Given the description of an element on the screen output the (x, y) to click on. 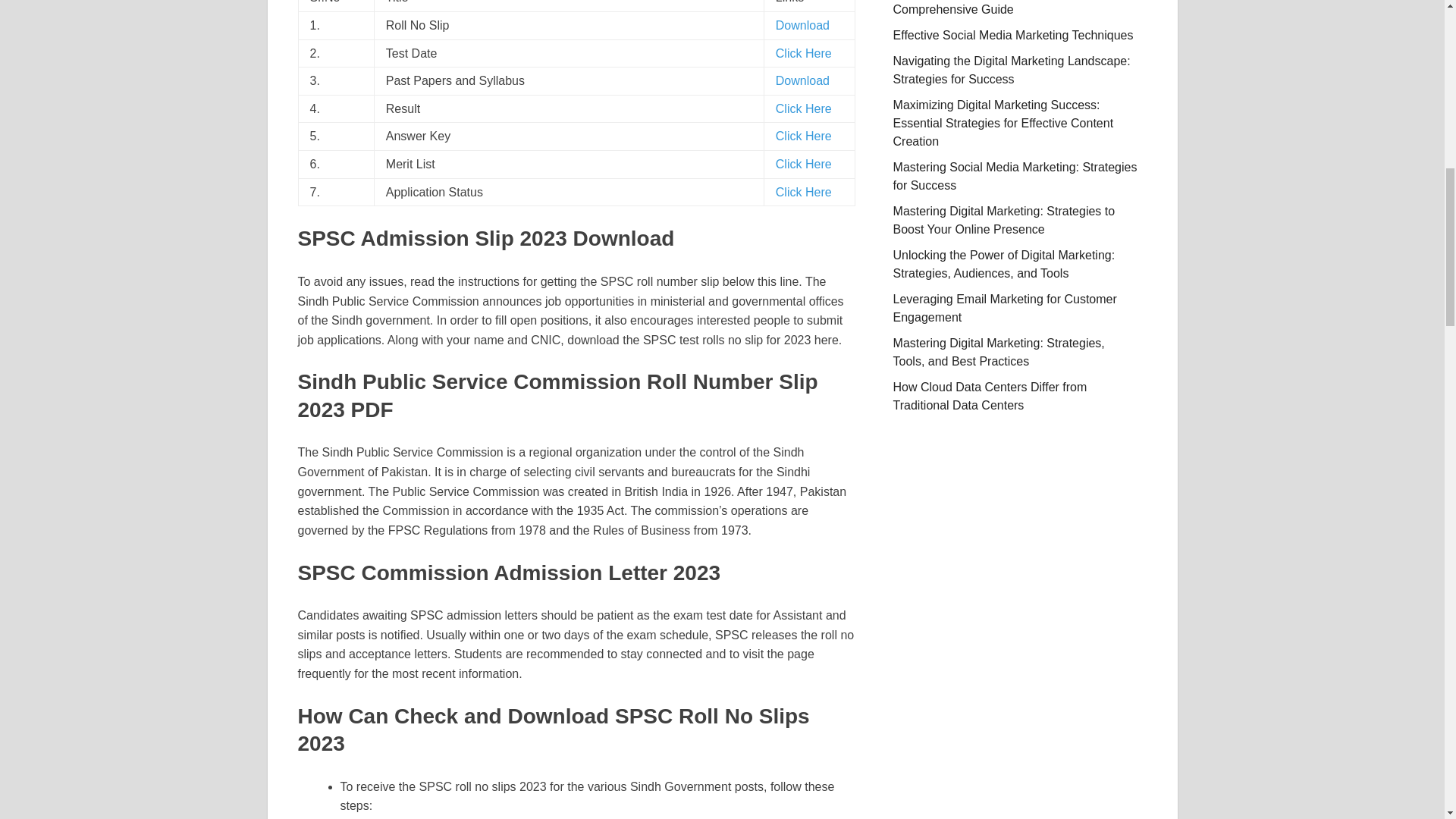
Click Here (803, 164)
Download (802, 24)
Click Here (803, 192)
Download (802, 80)
Click Here (803, 135)
Click Here (803, 108)
Click Here (803, 52)
